Given the description of an element on the screen output the (x, y) to click on. 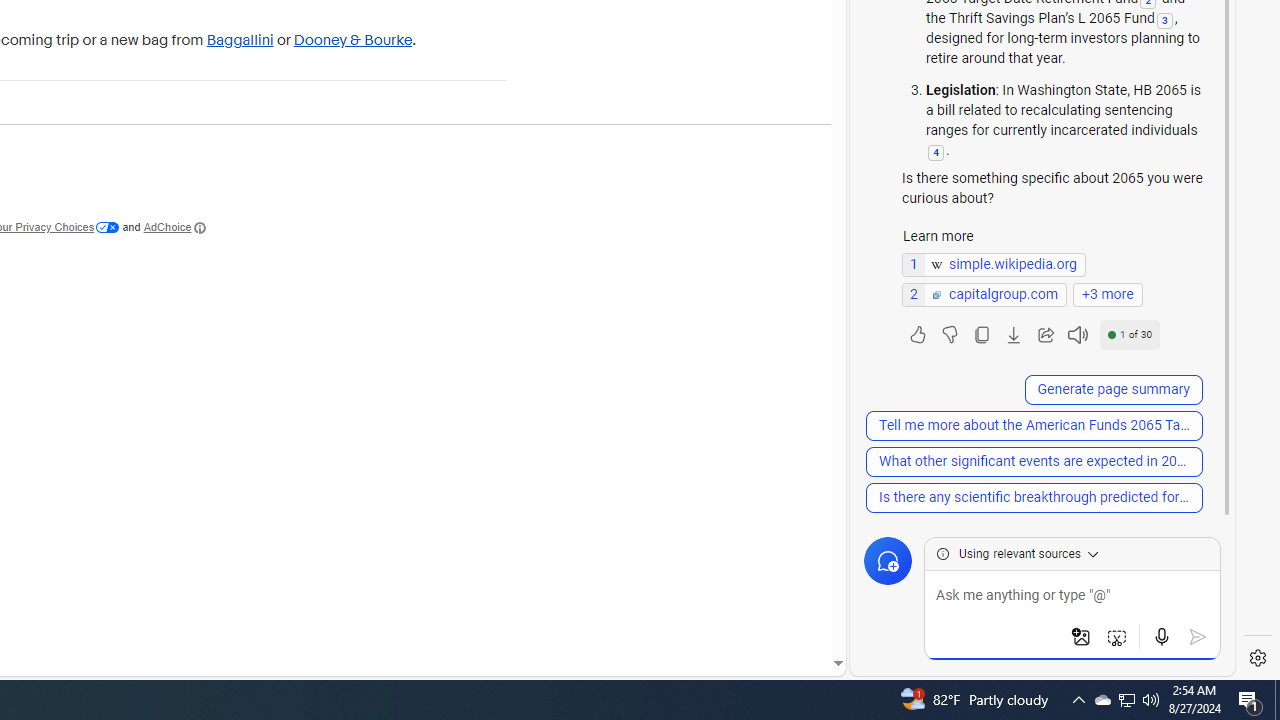
AdChoice (175, 227)
Dooney & Bourke (353, 39)
Baggallini (239, 39)
